Given the description of an element on the screen output the (x, y) to click on. 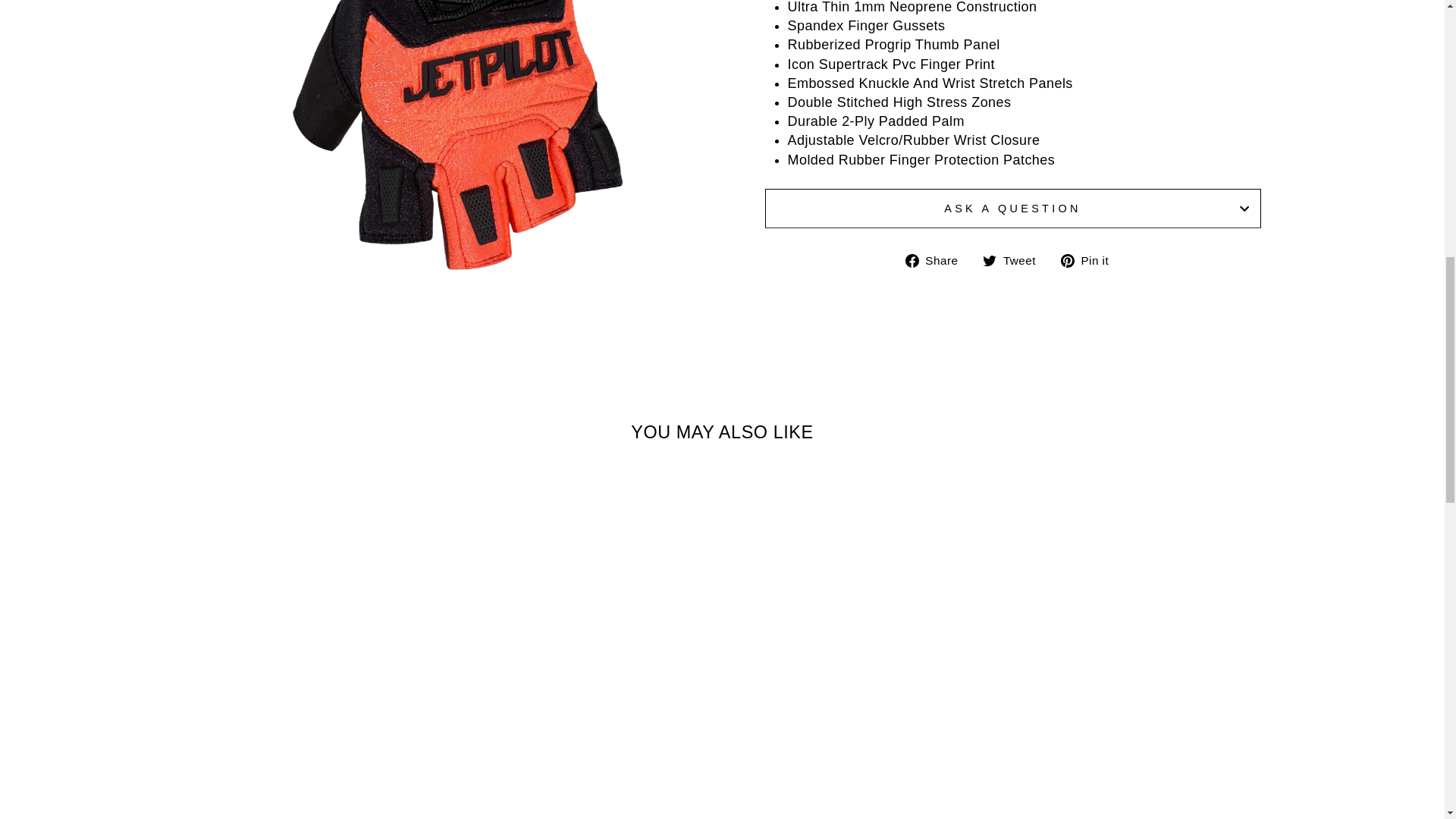
Tweet on Twitter (1014, 260)
twitter (988, 260)
Share on Facebook (937, 260)
Pin on Pinterest (1090, 260)
